Given the description of an element on the screen output the (x, y) to click on. 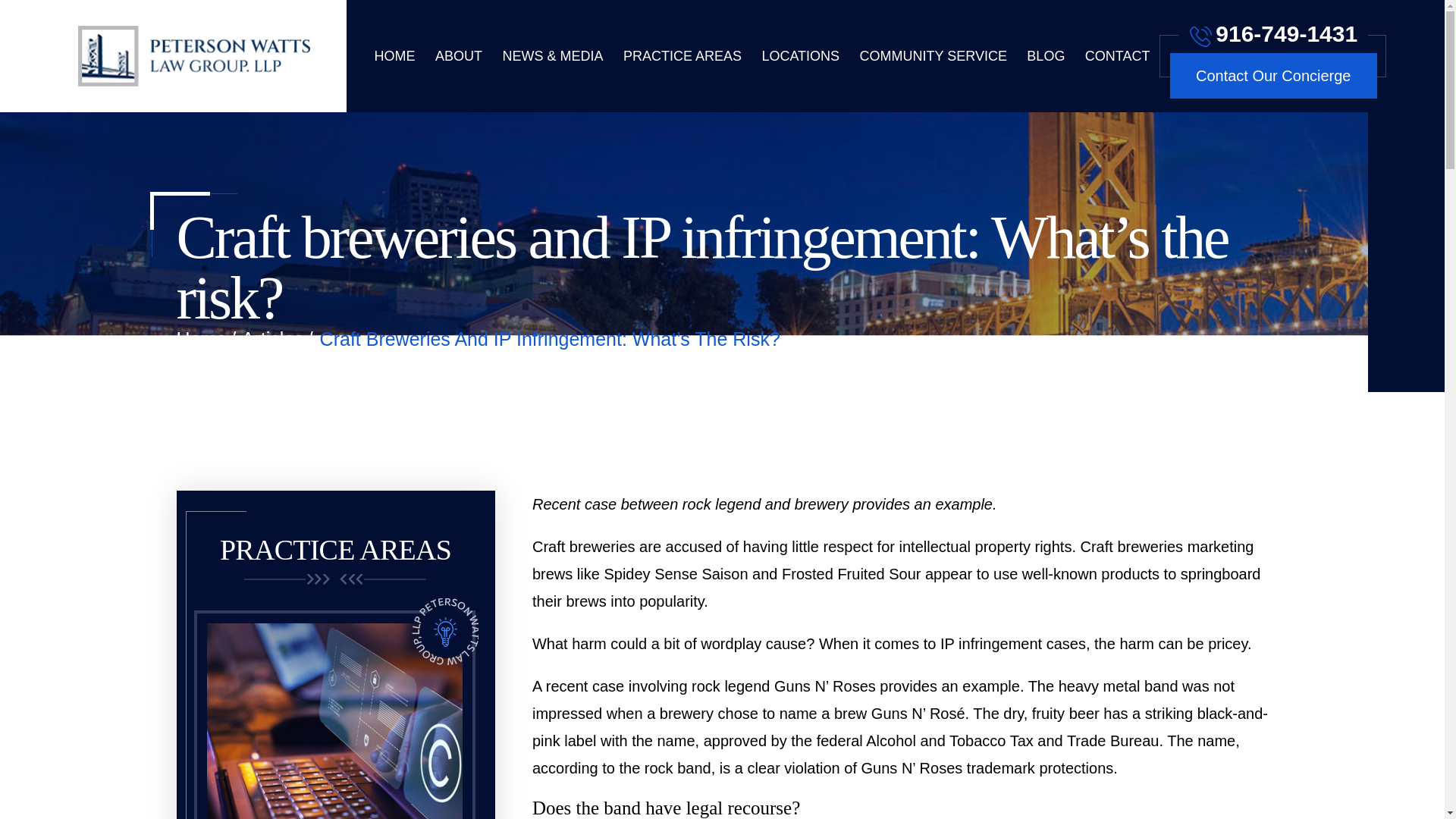
COMMUNITY SERVICE (933, 55)
HOME (394, 55)
916-749-1431 (1272, 29)
Go to Articles. (272, 338)
LOCATIONS (800, 55)
CONTACT (1117, 55)
ABOUT (458, 55)
Go to Peterson Watts Law Group, LLP. (201, 338)
BLOG (1045, 55)
PRACTICE AREAS (682, 55)
